Given the description of an element on the screen output the (x, y) to click on. 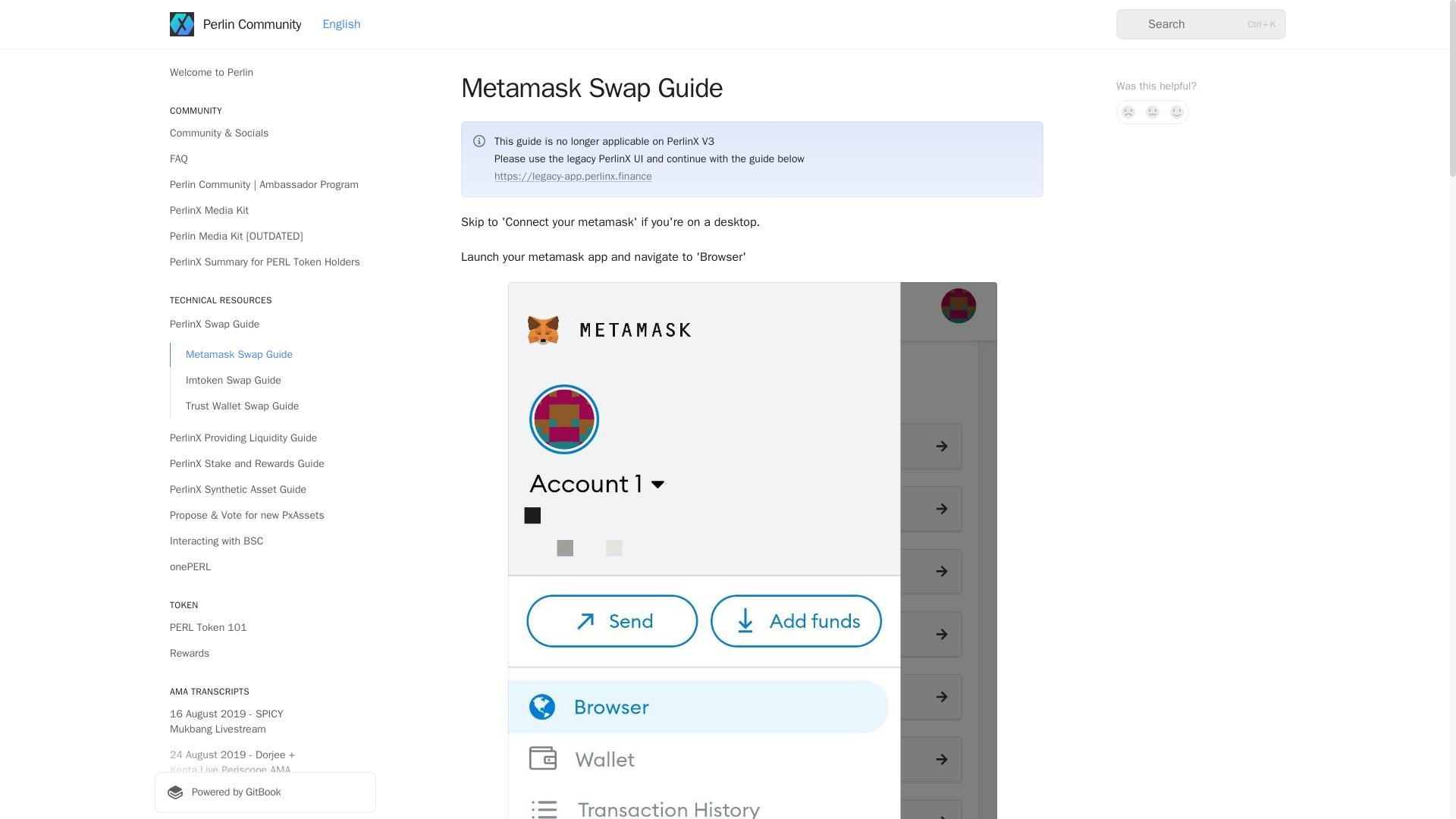
PerlinX Synthetic Asset Guide (264, 489)
Yes, it was! (1176, 111)
PERL Token 101 (264, 627)
PerlinX Media Kit (264, 210)
16 August 2019 - SPICY Mukbang Livestream (264, 721)
Rewards (264, 653)
No (1128, 111)
PerlinX Stake and Rewards Guide (264, 463)
FAQ (264, 159)
onePERL (264, 567)
